Given the description of an element on the screen output the (x, y) to click on. 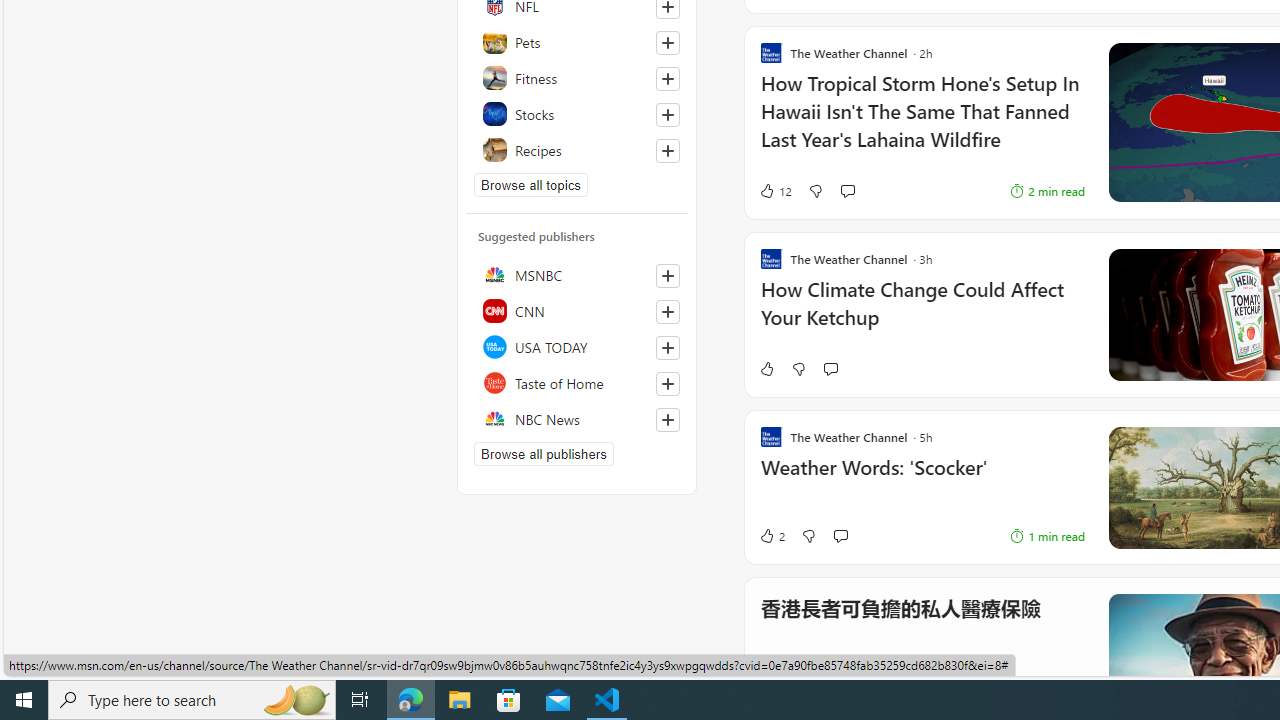
Weather Words: 'Scocker' (922, 477)
12 Like (775, 191)
Browse all topics (530, 184)
2 Like (771, 536)
Fitness (577, 78)
Browse all publishers (543, 453)
